Given the description of an element on the screen output the (x, y) to click on. 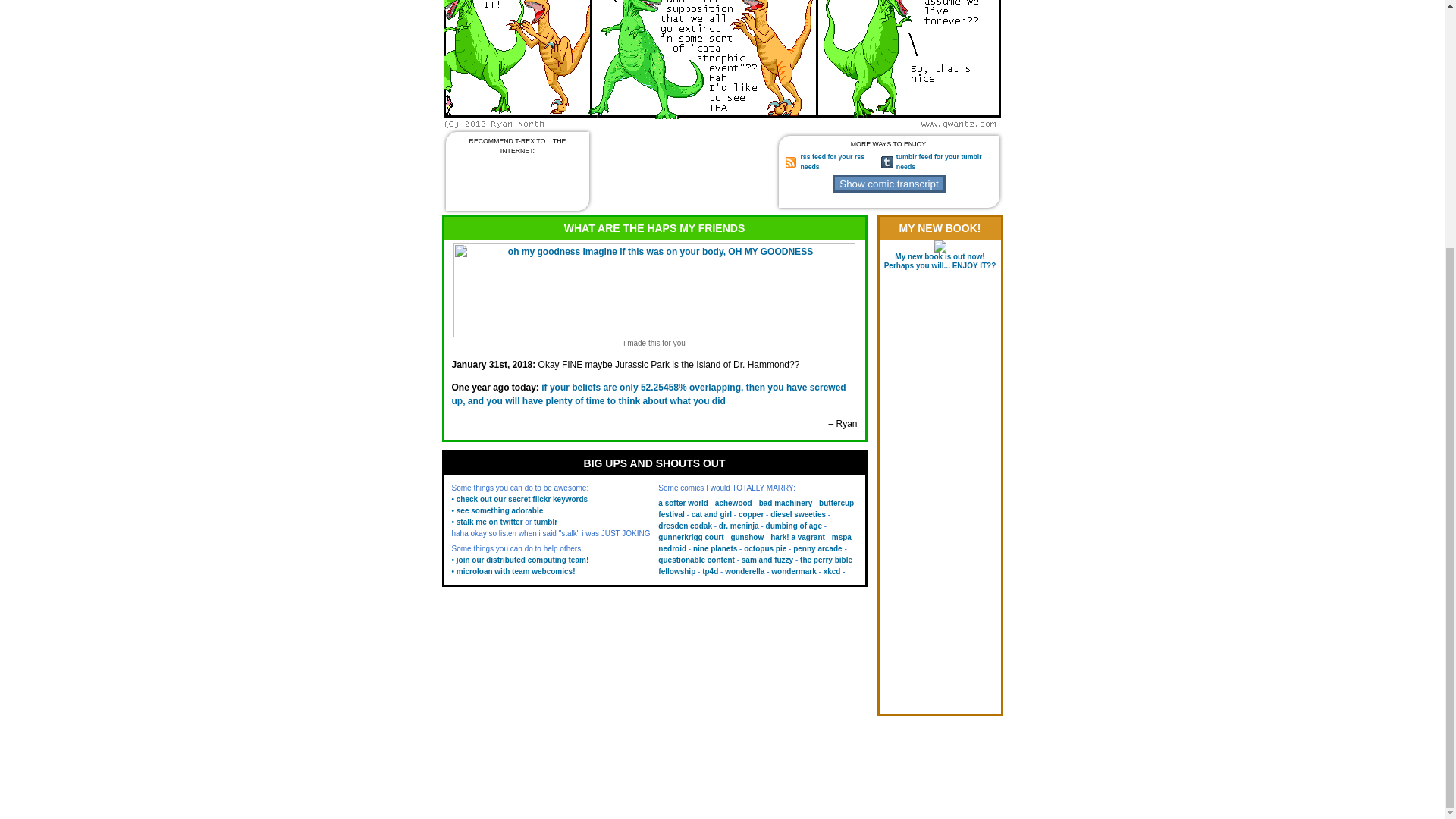
bad machinery (785, 502)
gunnerkrigg court (690, 537)
tumblr feed for your tumblr needs (938, 161)
My new book is out now! Perhaps you will... ENJOY IT?? (939, 261)
rss feed for your rss needs (831, 161)
cat and girl (711, 514)
Show comic transcript (888, 183)
copper (750, 514)
